Given the description of an element on the screen output the (x, y) to click on. 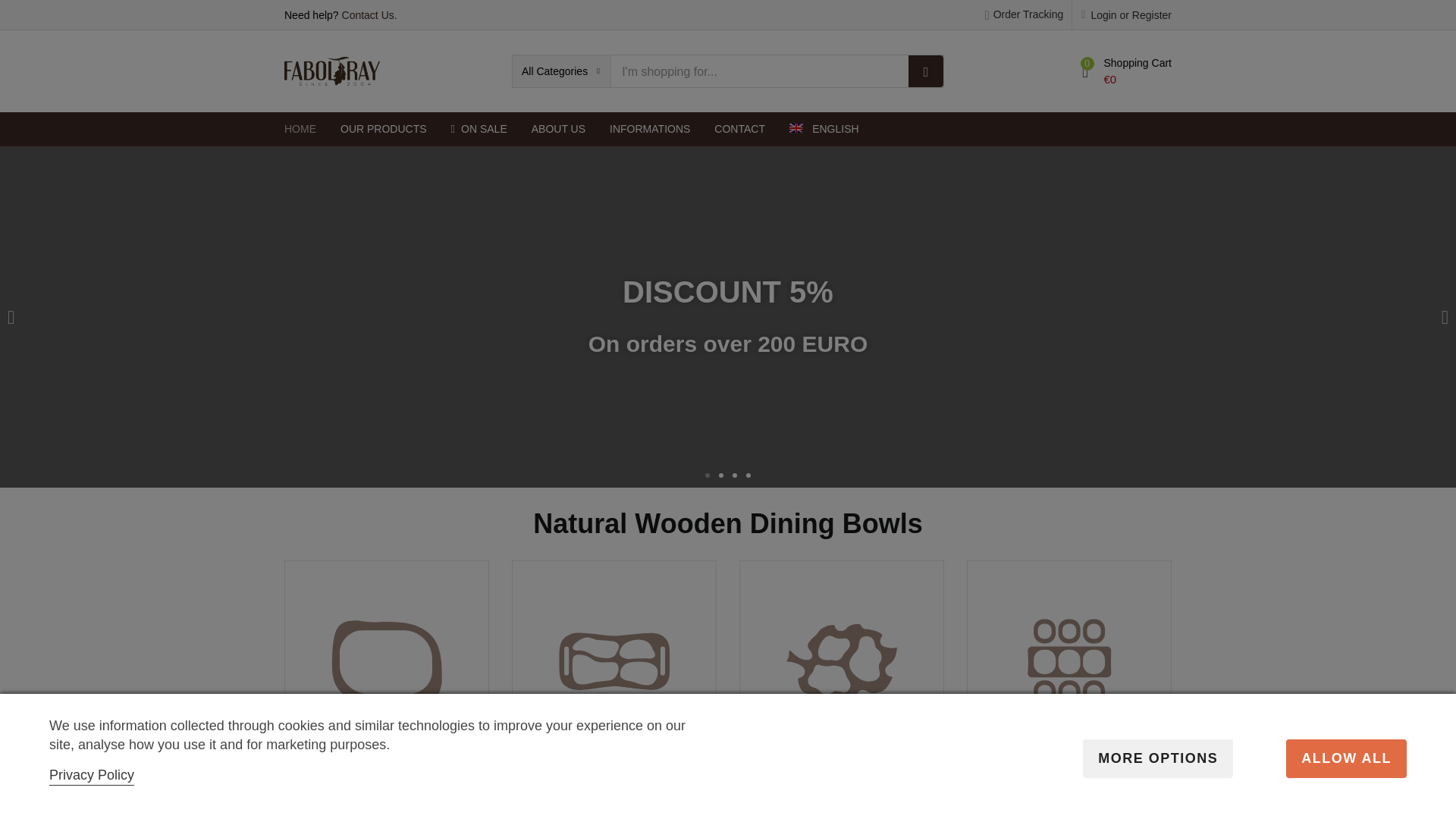
HOME (306, 129)
Login or Register (1126, 14)
Order Tracking (1023, 14)
English (823, 129)
Contact Us. (369, 15)
View your shopping cart (1126, 70)
Login or Register (1126, 14)
 All Categories (561, 70)
OUR PRODUCTS (384, 129)
